Given the description of an element on the screen output the (x, y) to click on. 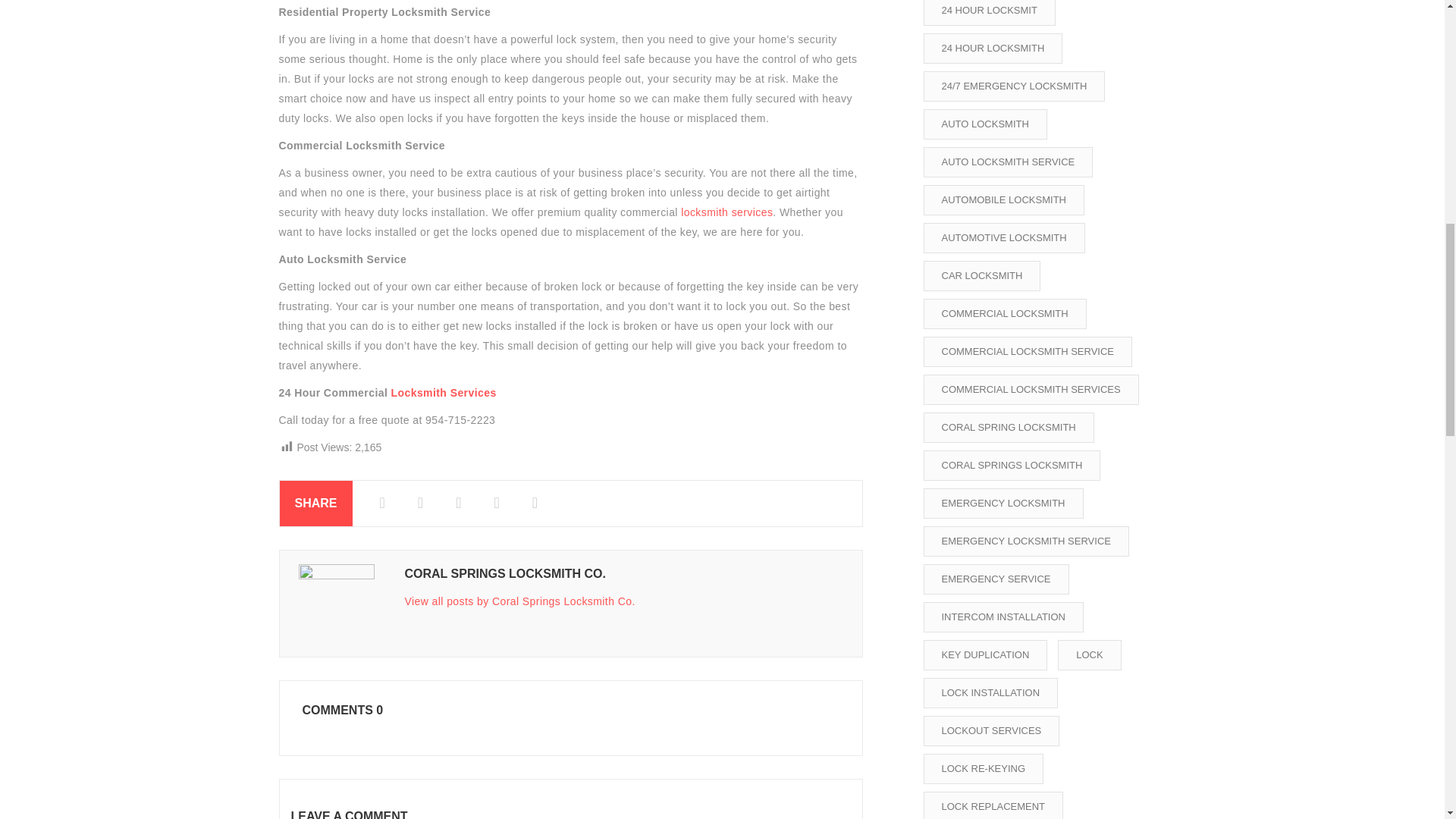
Locksmith Services (443, 392)
AUTO LOCKSMITH SERVICE (1008, 162)
AUTOMOBILE LOCKSMITH (1003, 200)
SHARE (315, 503)
COMMERCIAL LOCKSMITH SERVICE (1027, 351)
View all posts by Coral Springs Locksmith Co. (519, 601)
AUTOMOTIVE LOCKSMITH (1003, 237)
locksmith services (727, 212)
AUTO LOCKSMITH (984, 123)
24 HOUR LOCKSMITH (992, 48)
COMMERCIAL LOCKSMITH (1004, 313)
CAR LOCKSMITH (982, 276)
24 HOUR LOCKSMIT (989, 12)
